Given the description of an element on the screen output the (x, y) to click on. 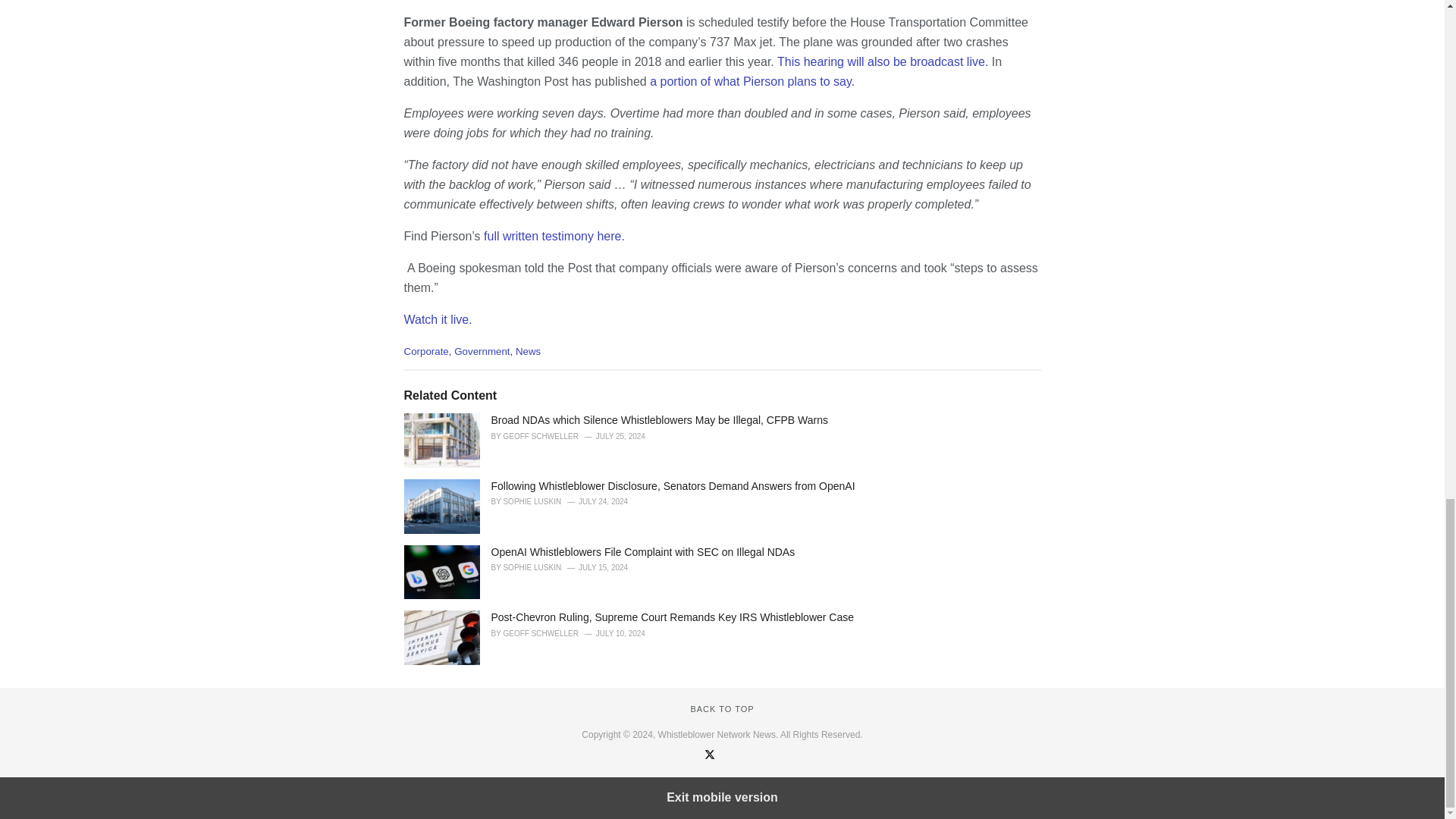
Watch it live. (437, 318)
a portion of what Pierson plans to say. (751, 81)
BACK TO TOP (722, 708)
his hearing will also be broadcast live. (886, 61)
News (527, 351)
Corporate (425, 351)
Government (481, 351)
full written testimony here.  (555, 236)
